Given the description of an element on the screen output the (x, y) to click on. 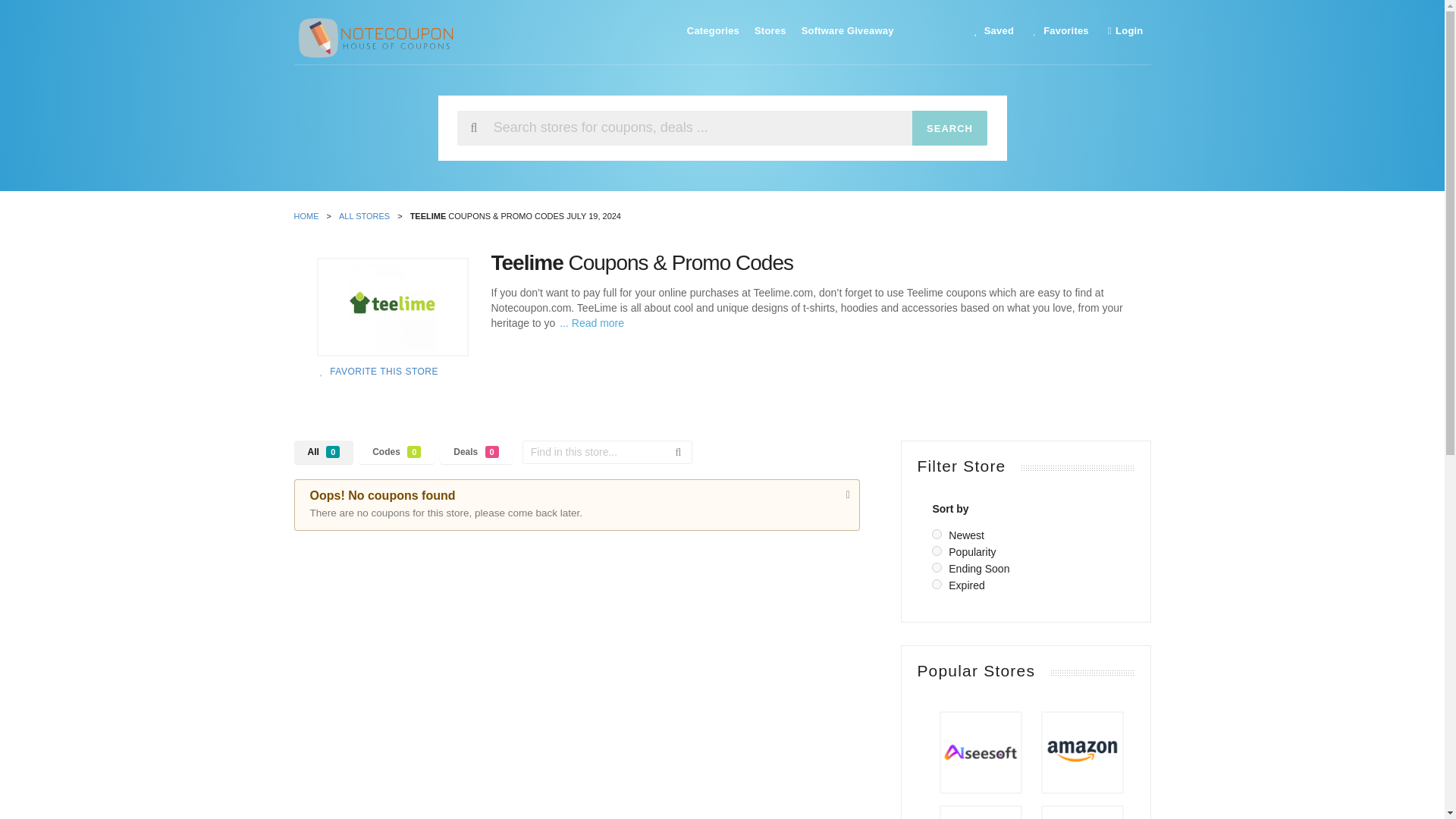
amazon coupon code (1082, 752)
Software Giveaway (847, 30)
Go to NoteCoupon. (310, 215)
Stores (769, 30)
ending-soon (936, 567)
ALL STORES (368, 215)
Deals 0 (475, 452)
abbyy coupon code (1082, 814)
Click to Show More (590, 322)
newest (936, 533)
All 0 (323, 452)
Shop Teelime (392, 306)
HOME (310, 215)
expired (936, 583)
